Given the description of an element on the screen output the (x, y) to click on. 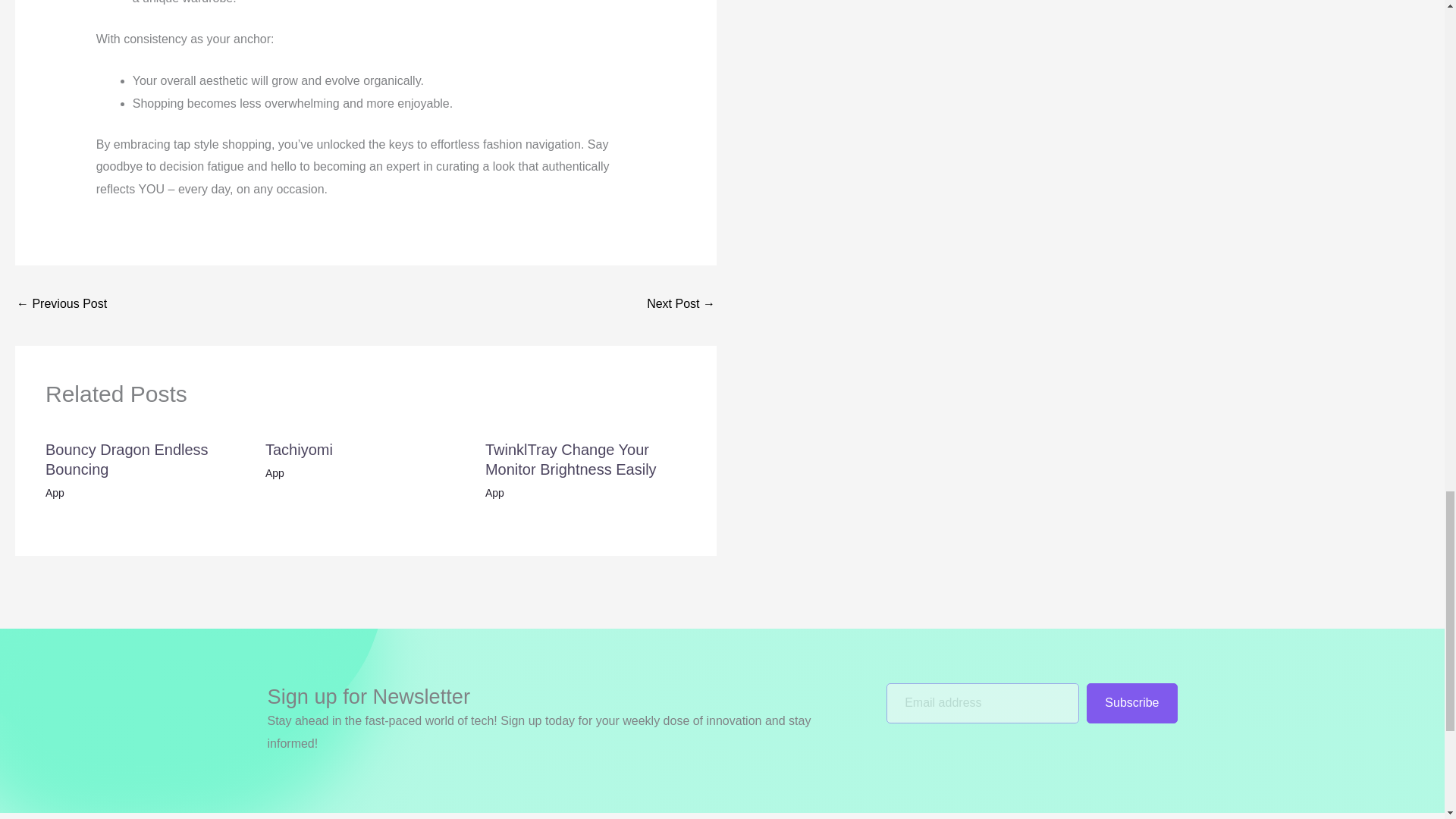
Games Like Civilization VI (61, 305)
Subscribe (1131, 703)
App (493, 492)
How to Win Fortnite (680, 305)
App (54, 492)
App (273, 472)
Please fill in this field. (982, 703)
TwinklTray Change Your Monitor Brightness Easily (570, 459)
Bouncy Dragon Endless Bouncing (126, 459)
Tachiyomi (298, 449)
